Given the description of an element on the screen output the (x, y) to click on. 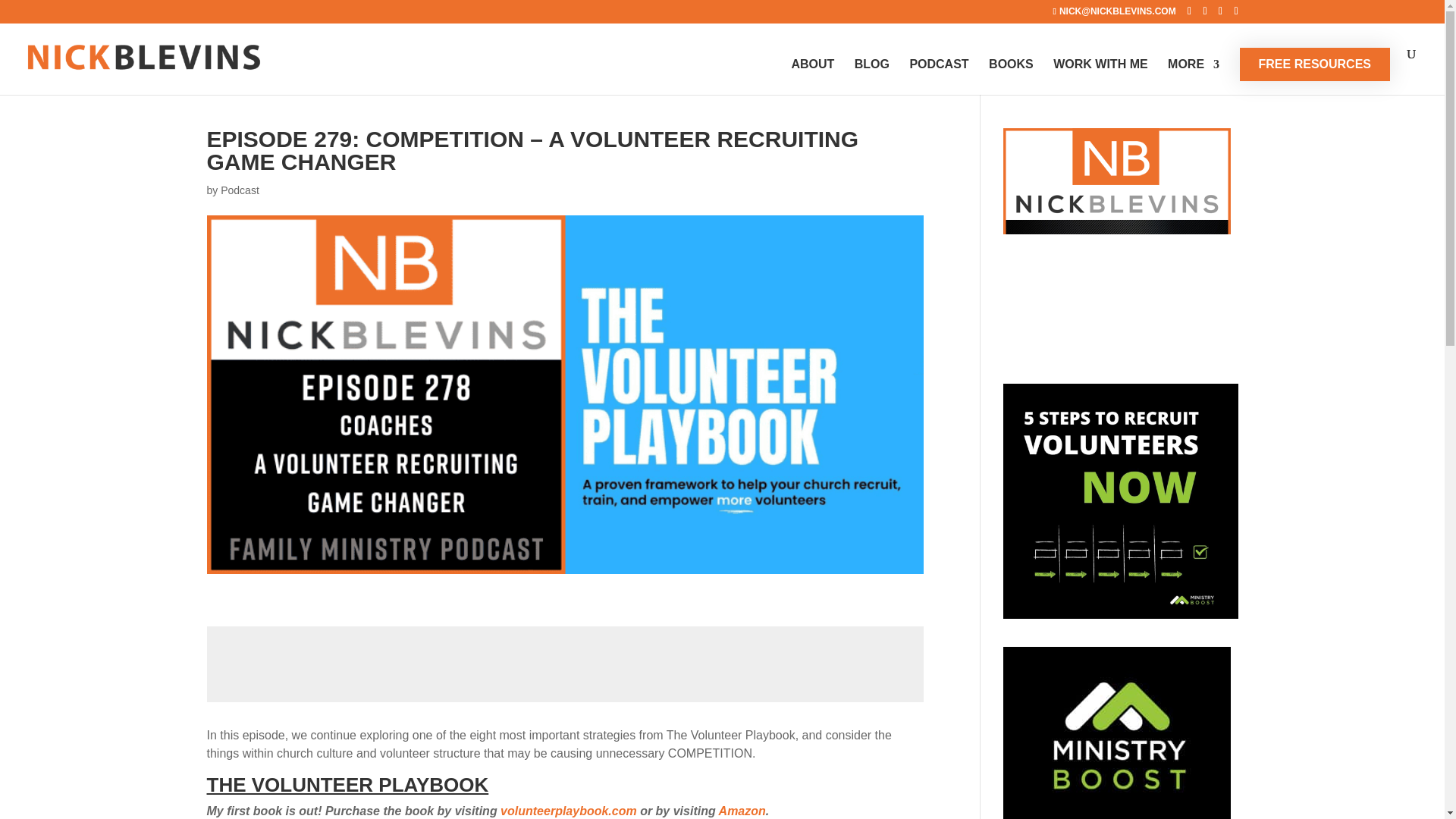
WORK WITH ME (1099, 76)
BLOG (871, 76)
Posts by Podcast (240, 190)
ABOUT (812, 76)
Podcast (240, 190)
BOOKS (1010, 76)
FREE RESOURCES (1315, 64)
MORE (1193, 76)
PODCAST (938, 76)
